Given the description of an element on the screen output the (x, y) to click on. 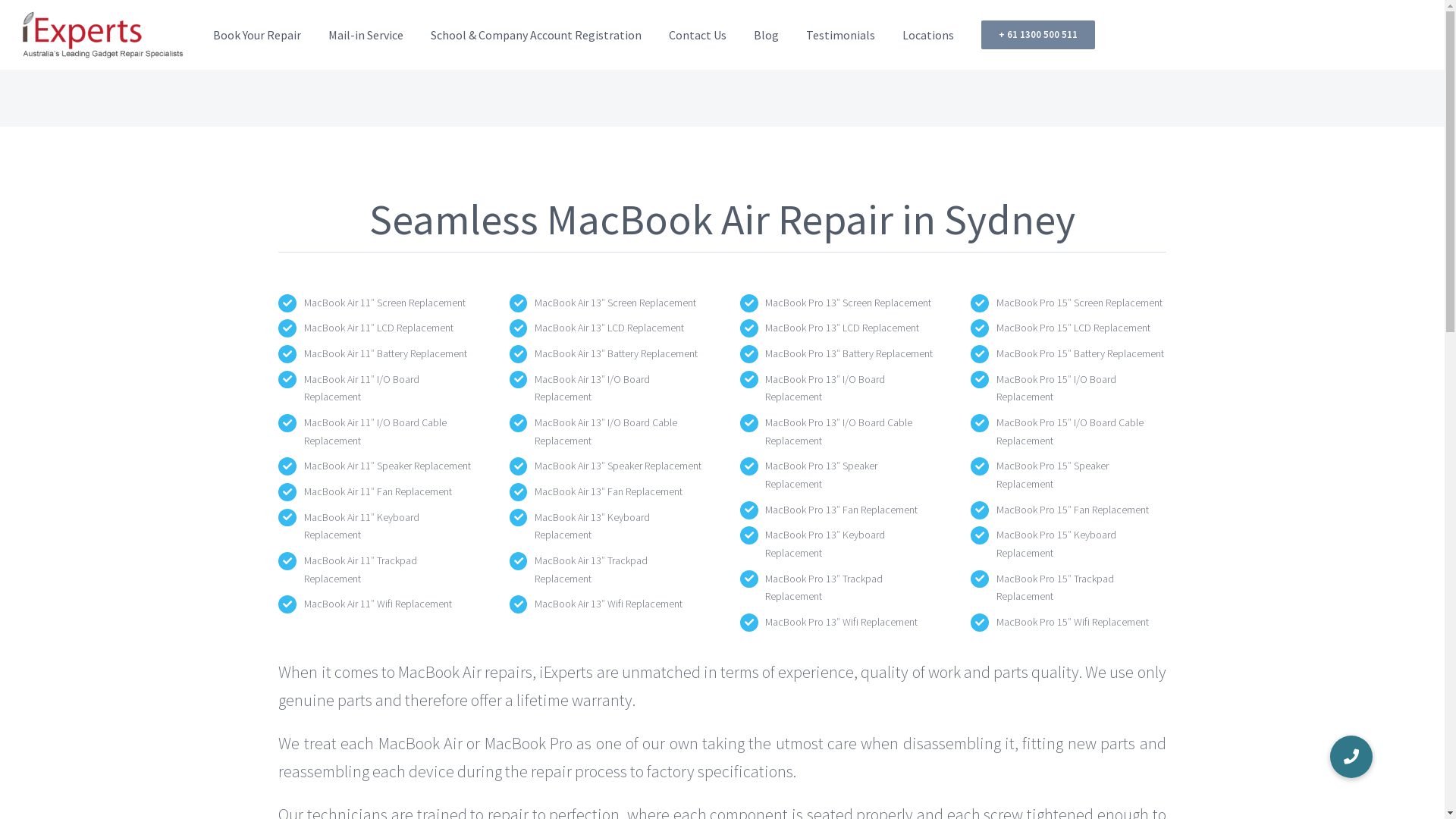
Testimonials Element type: text (840, 34)
+ 61 1300 500 511 Element type: text (1038, 34)
Locations Element type: text (927, 34)
Contact Us Element type: text (697, 34)
School & Company Account Registration Element type: text (535, 34)
Blog Element type: text (765, 34)
Mail-in Service Element type: text (365, 34)
Book Your Repair Element type: text (257, 34)
